Given the description of an element on the screen output the (x, y) to click on. 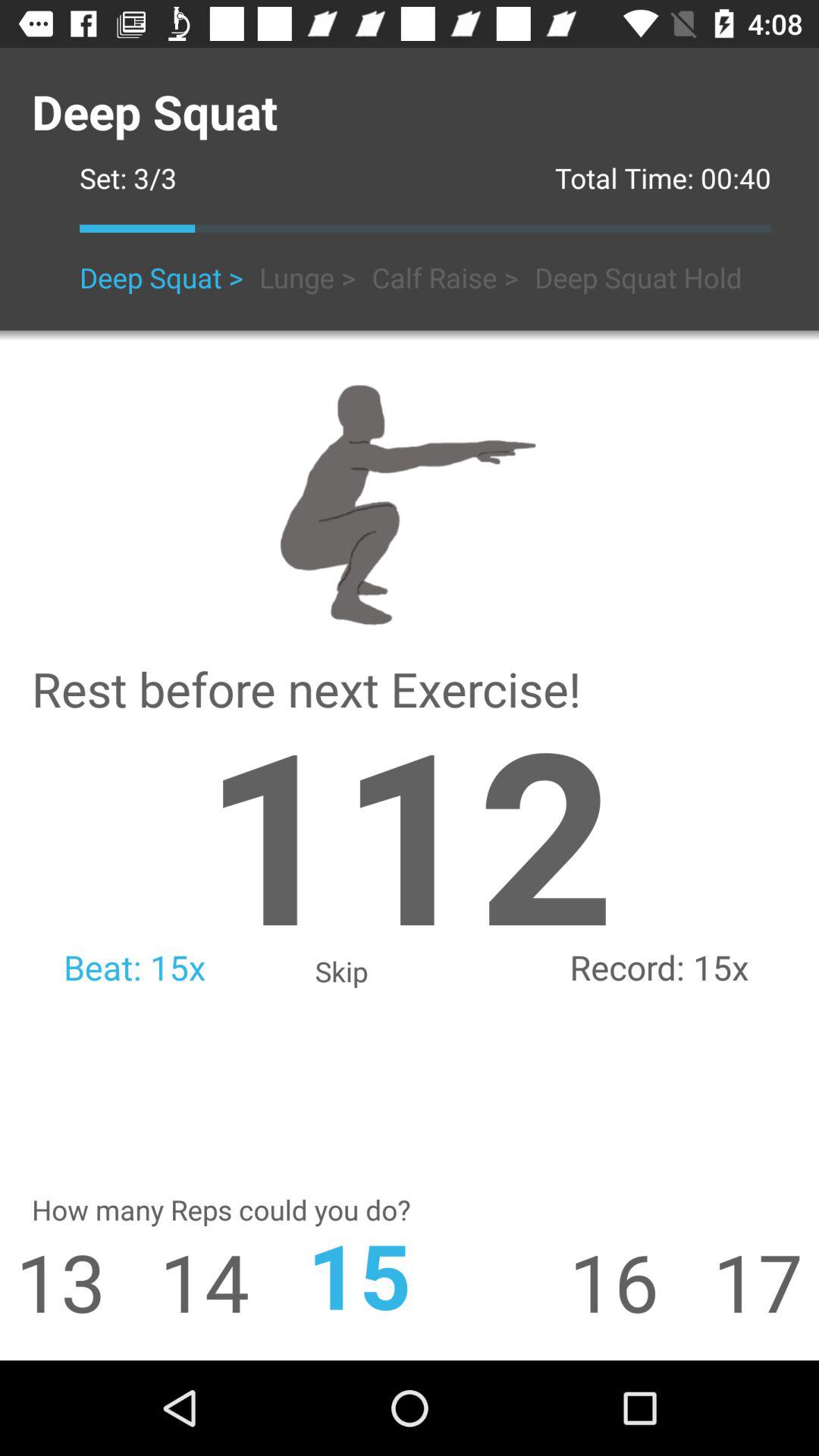
scroll until the 14 app (177, 1281)
